Given the description of an element on the screen output the (x, y) to click on. 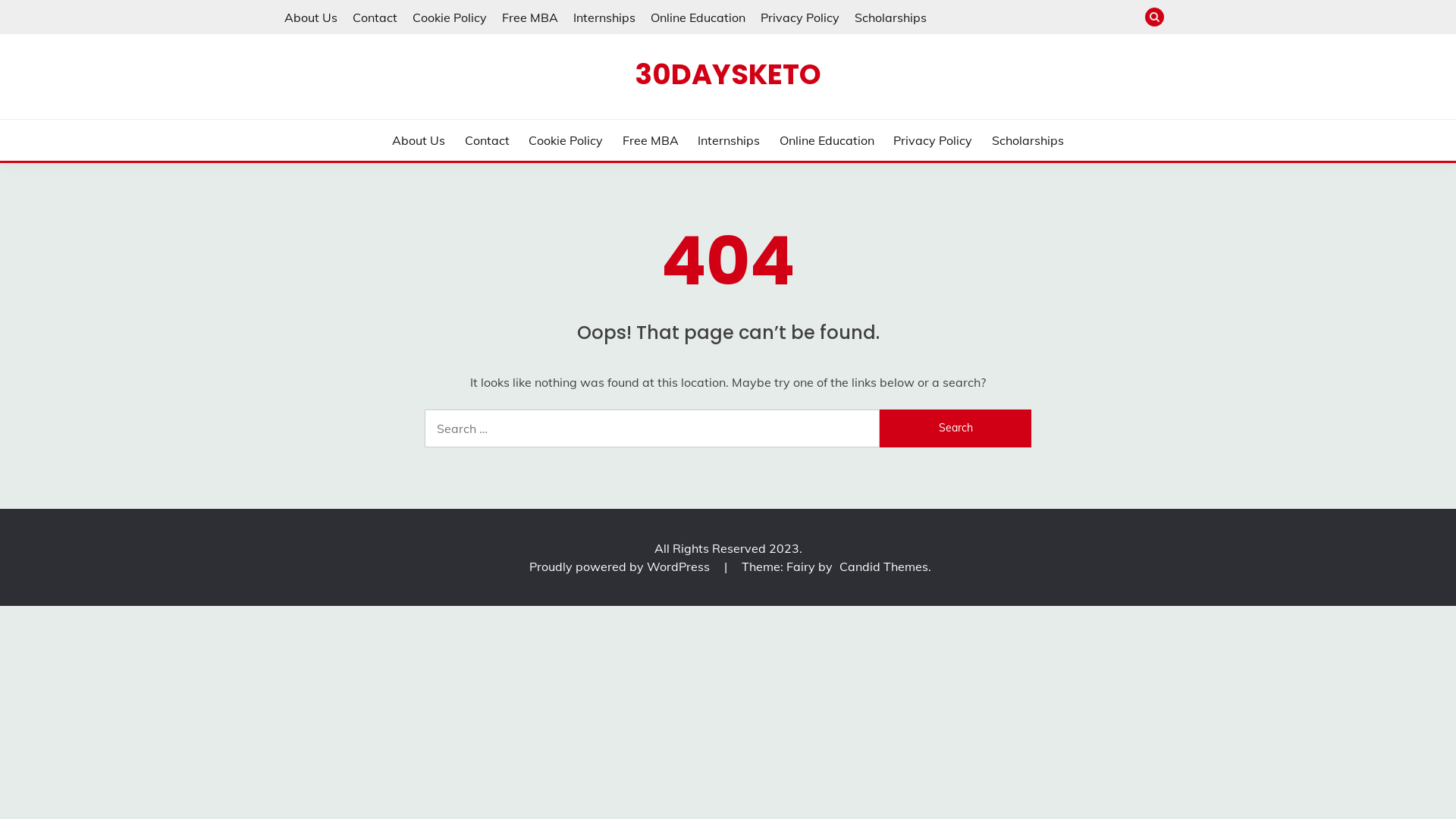
Contact Element type: text (486, 140)
Privacy Policy Element type: text (799, 16)
Internships Element type: text (728, 140)
Cookie Policy Element type: text (449, 16)
Privacy Policy Element type: text (932, 140)
Search Element type: text (839, 18)
Scholarships Element type: text (890, 16)
Internships Element type: text (604, 16)
30DAYSKETO Element type: text (727, 74)
Contact Element type: text (374, 16)
Proudly powered by WordPress Element type: text (620, 566)
Cookie Policy Element type: text (565, 140)
Online Education Element type: text (826, 140)
Free MBA Element type: text (650, 140)
About Us Element type: text (418, 140)
Candid Themes Element type: text (882, 566)
Online Education Element type: text (697, 16)
About Us Element type: text (310, 16)
Free MBA Element type: text (530, 16)
Scholarships Element type: text (1027, 140)
Search Element type: text (955, 428)
